Given the description of an element on the screen output the (x, y) to click on. 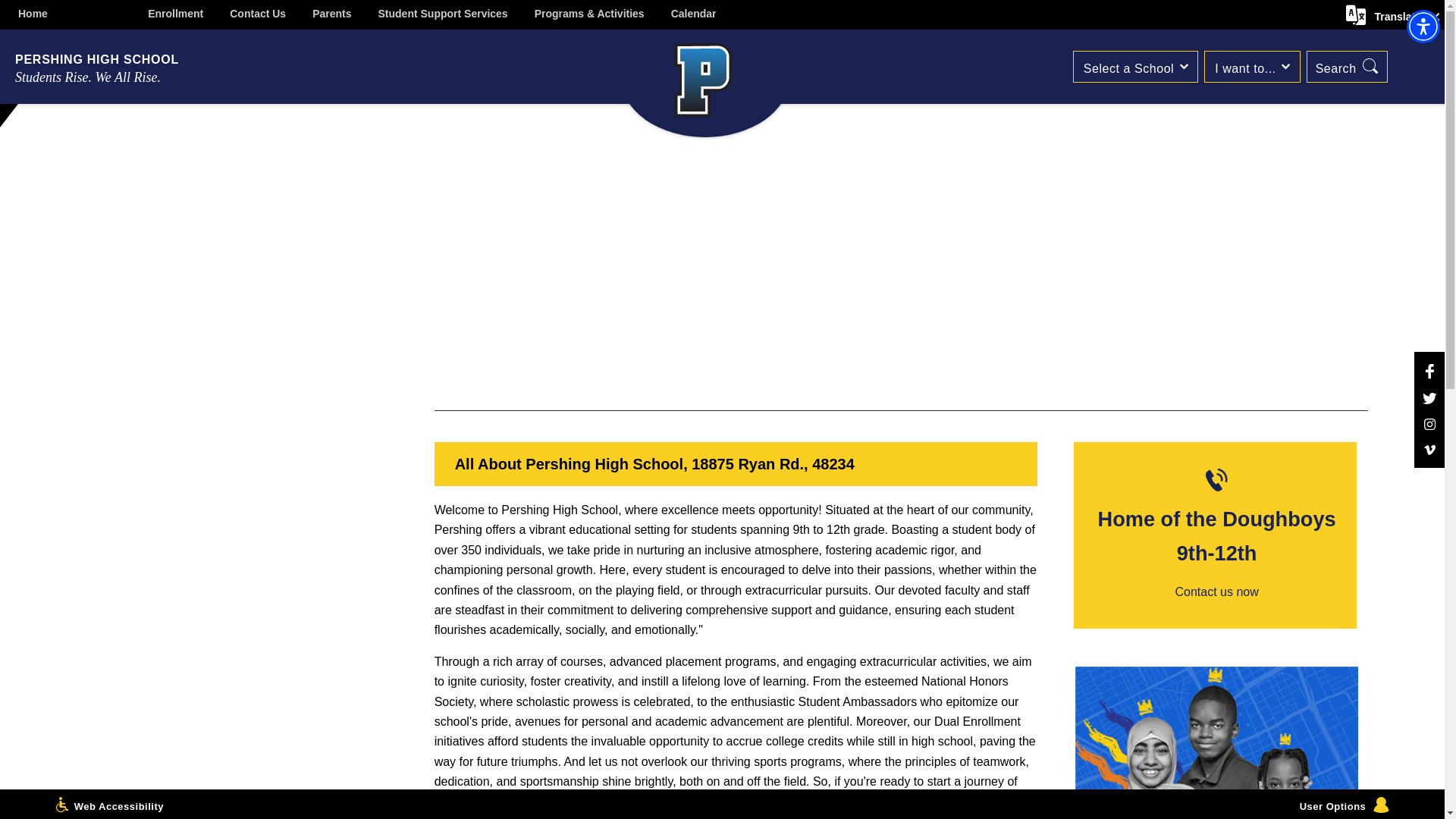
Accessibility Menu (1422, 26)
